Given the description of an element on the screen output the (x, y) to click on. 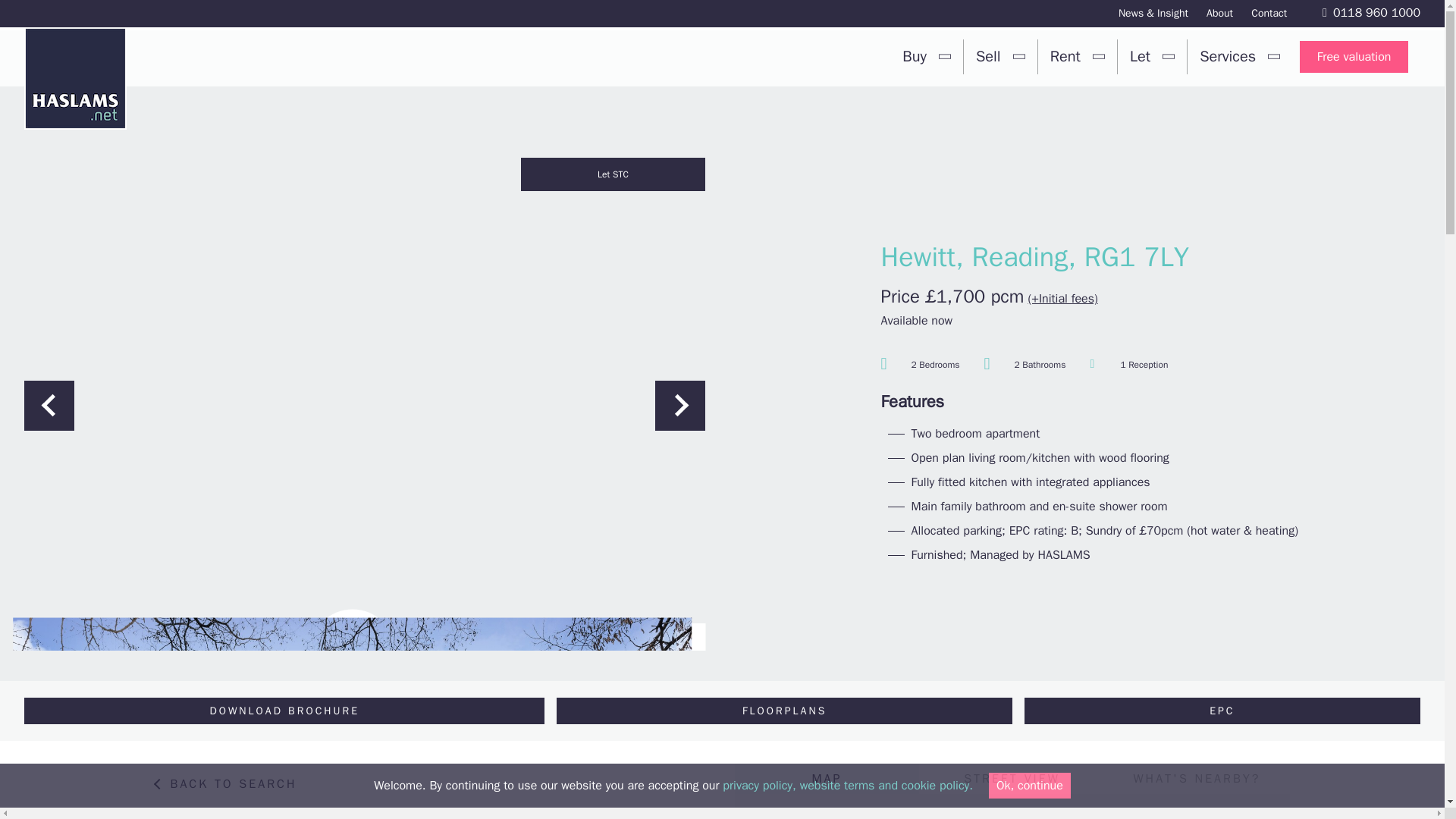
Contact (1268, 13)
0118 960 1000 (1371, 12)
Sell (999, 56)
Let (1152, 56)
About (1220, 13)
Free valuation (1353, 56)
Services (1240, 56)
Rent (1077, 56)
Buy (925, 56)
